Given the description of an element on the screen output the (x, y) to click on. 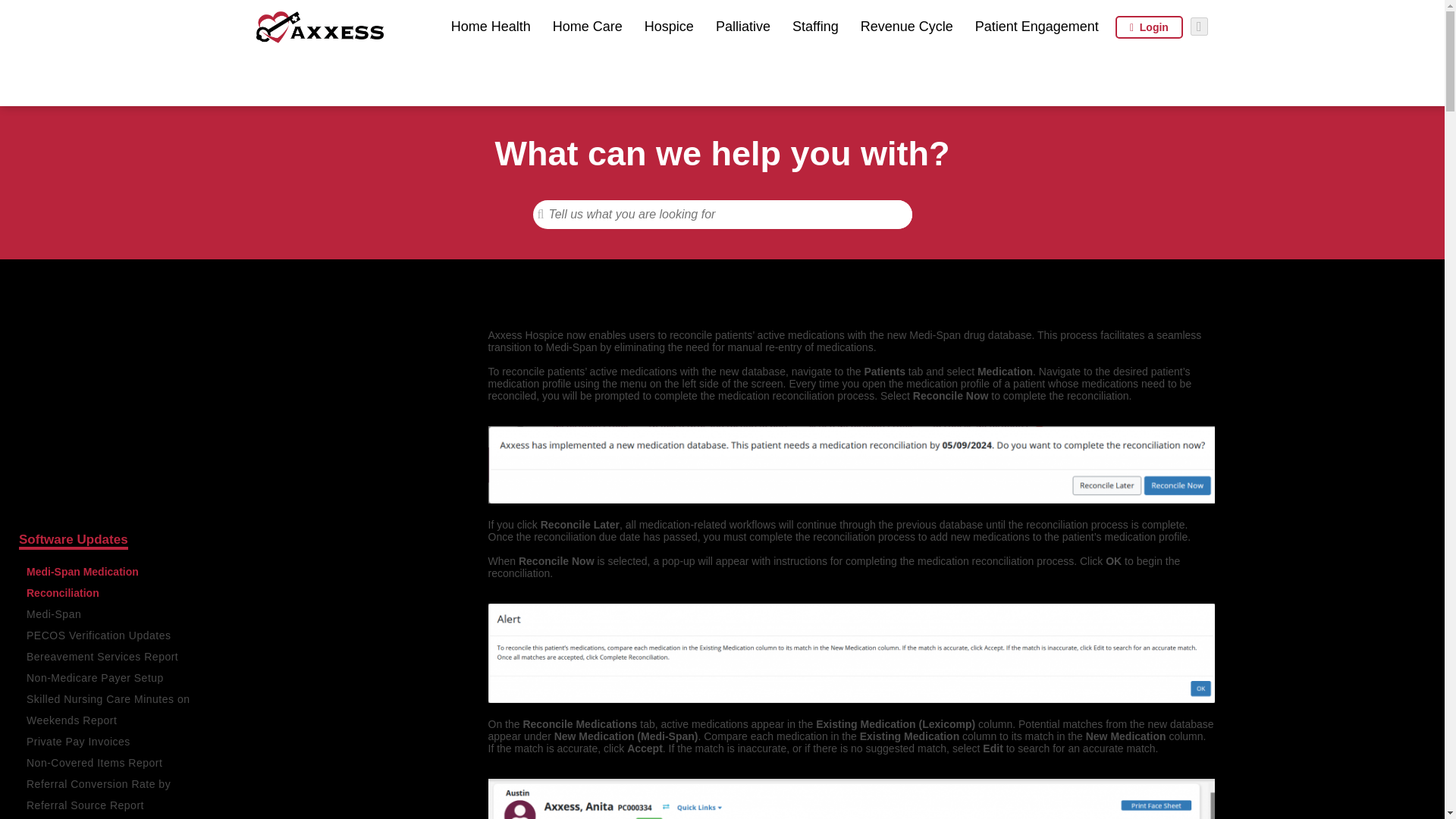
 Login (1148, 26)
Getting Started (65, 307)
Home Care (588, 26)
Billing (37, 359)
Staffing (815, 26)
Revenue Cycle (906, 26)
Patient Engagement (1037, 26)
Home Health (491, 26)
Palliative (743, 26)
Hospice (669, 26)
